Given the description of an element on the screen output the (x, y) to click on. 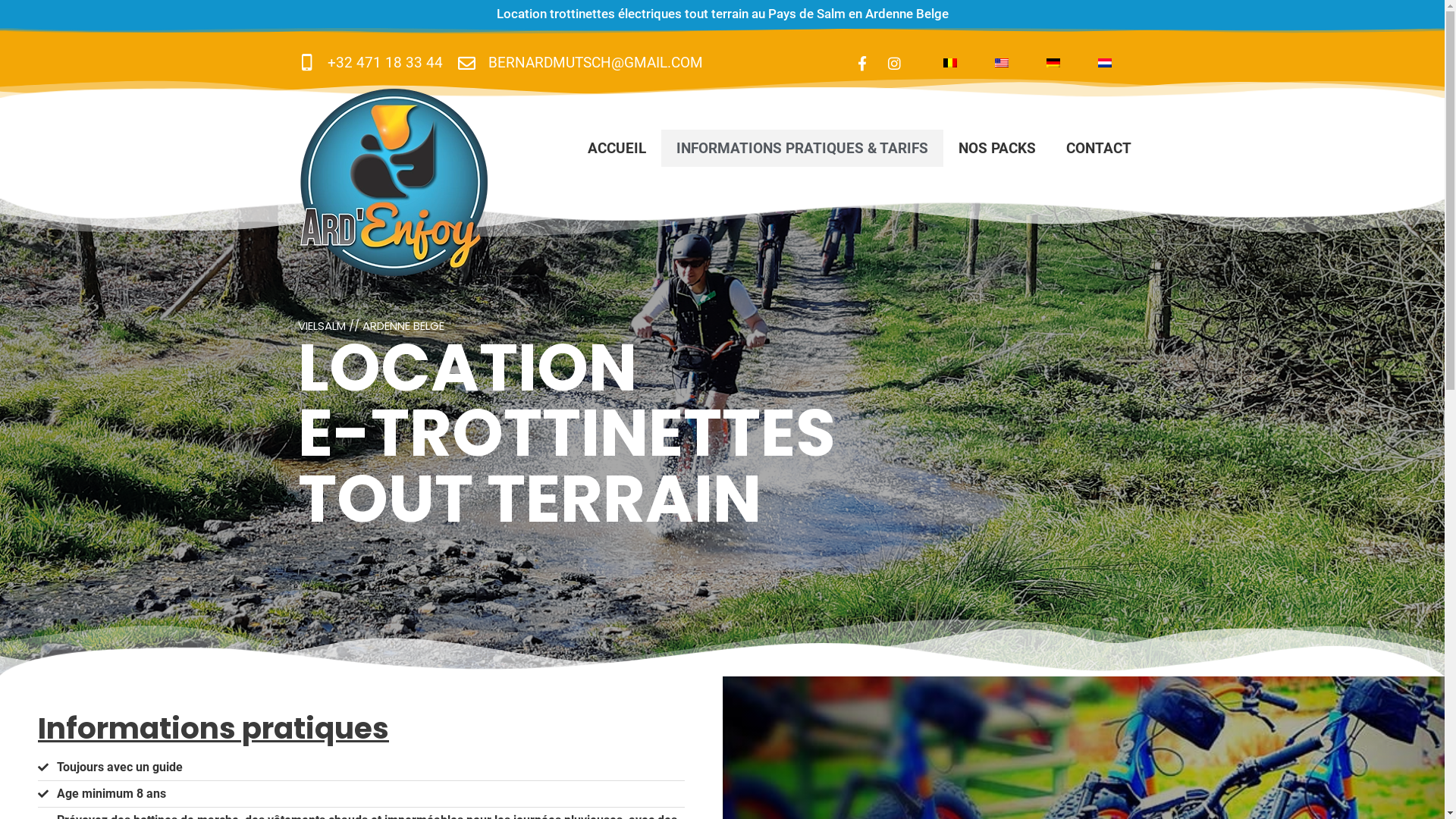
English Element type: hover (1001, 62)
CONTACT Element type: text (1098, 147)
French Element type: hover (950, 62)
NOS PACKS Element type: text (997, 147)
+32 471 18 33 44 Element type: text (369, 63)
Informations pratiques Element type: text (213, 728)
Dutch Element type: hover (1104, 62)
ACCUEIL Element type: text (616, 147)
German Element type: hover (1053, 62)
INFORMATIONS PRATIQUES & TARIFS Element type: text (802, 147)
